Given the description of an element on the screen output the (x, y) to click on. 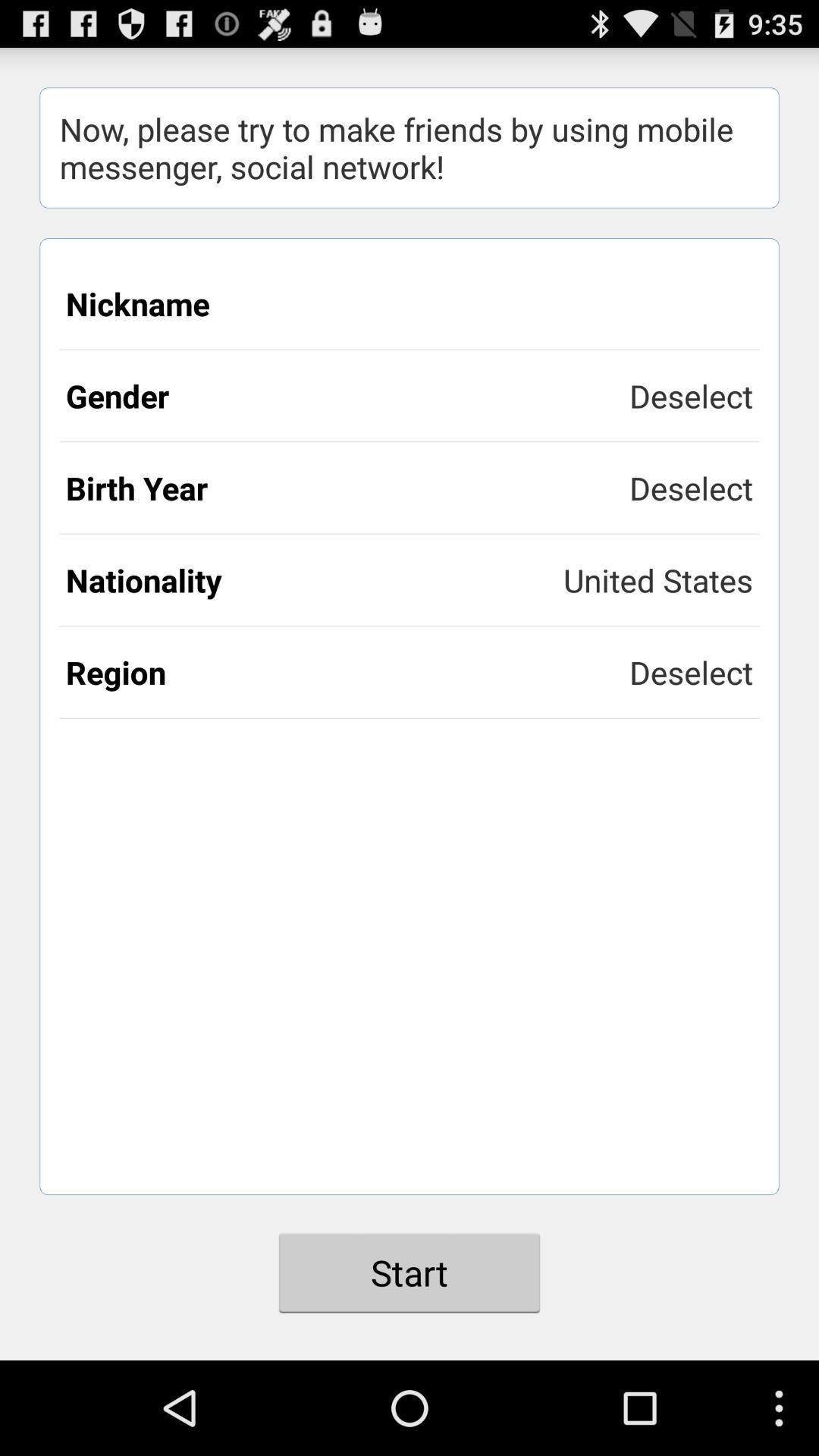
turn off the app above the nationality item (347, 487)
